Given the description of an element on the screen output the (x, y) to click on. 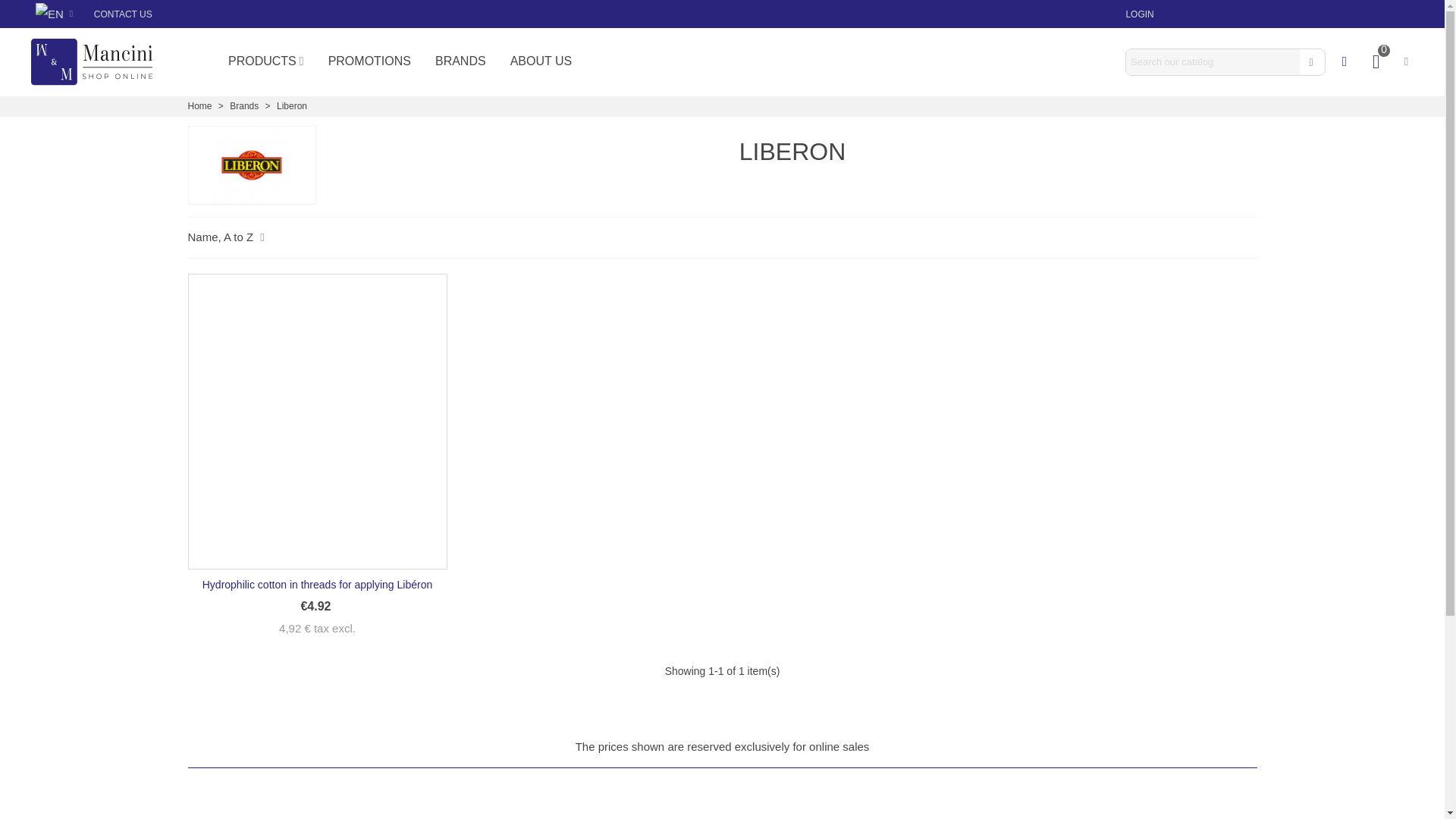
Log in to your customer account (1138, 13)
LOGIN (1138, 13)
Products (265, 61)
Trustpilot (1093, 12)
PRODUCTS (265, 61)
Contact us (122, 13)
CONTACT US (122, 13)
